Given the description of an element on the screen output the (x, y) to click on. 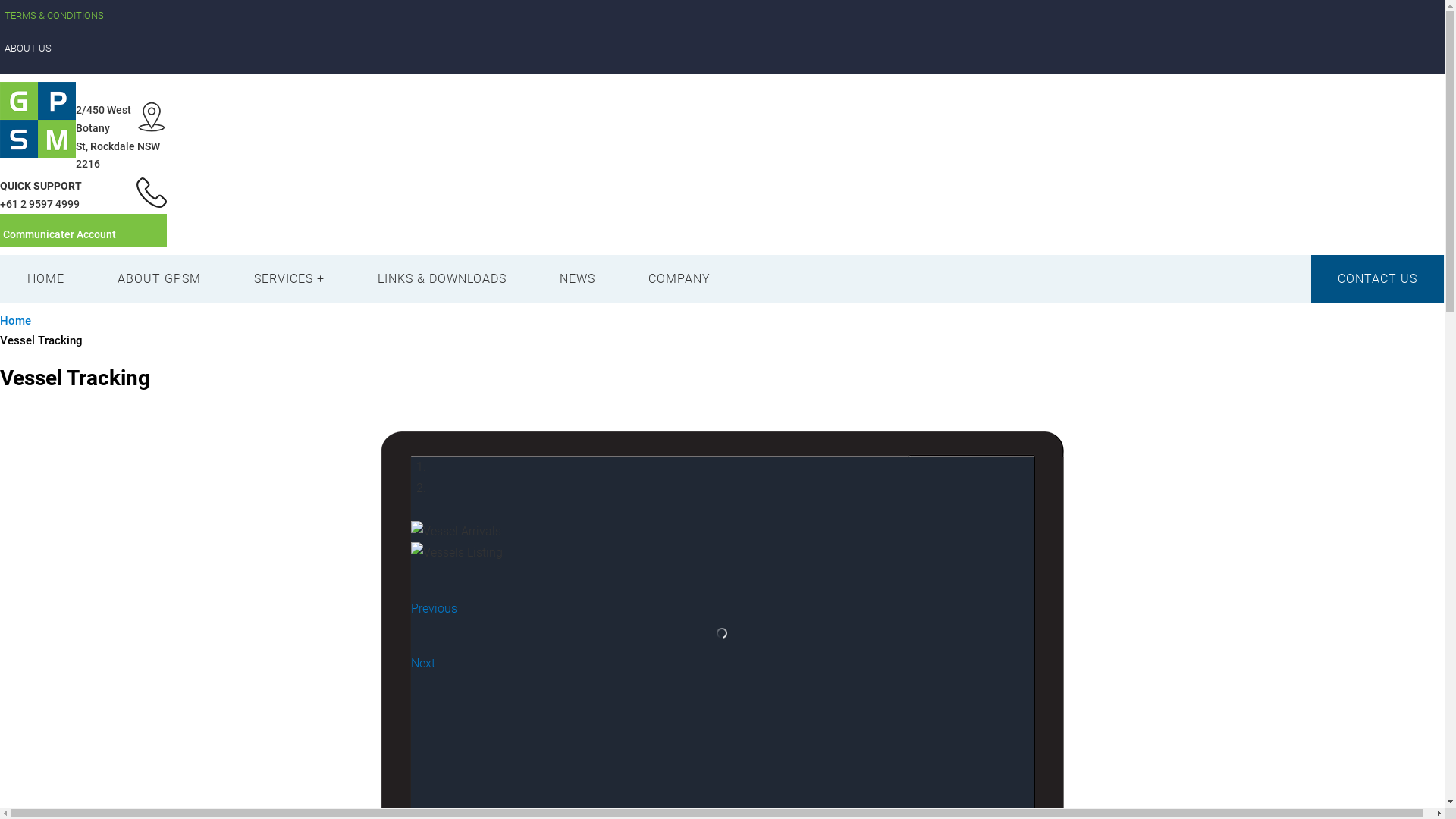
Home Element type: text (15, 320)
Communicater Account Element type: text (59, 234)
SERVICES + Element type: text (289, 278)
TERMS & CONDITIONS Element type: text (722, 16)
COMPANY Element type: text (679, 278)
ABOUT US Element type: text (722, 48)
+61 2 9597 4999 Element type: text (39, 203)
LINKS & DOWNLOADS Element type: text (442, 278)
Global Product Supply Management Element type: text (200, 105)
HOME Element type: text (45, 278)
Next Element type: text (423, 662)
2/450 West Botany
St, Rockdale NSW 2216 Element type: text (117, 136)
CONTACT US Element type: text (1377, 278)
Communicater Account Element type: text (83, 230)
Previous Element type: text (434, 608)
ABOUT GPSM Element type: text (159, 278)
NEWS Element type: text (577, 278)
